Given the description of an element on the screen output the (x, y) to click on. 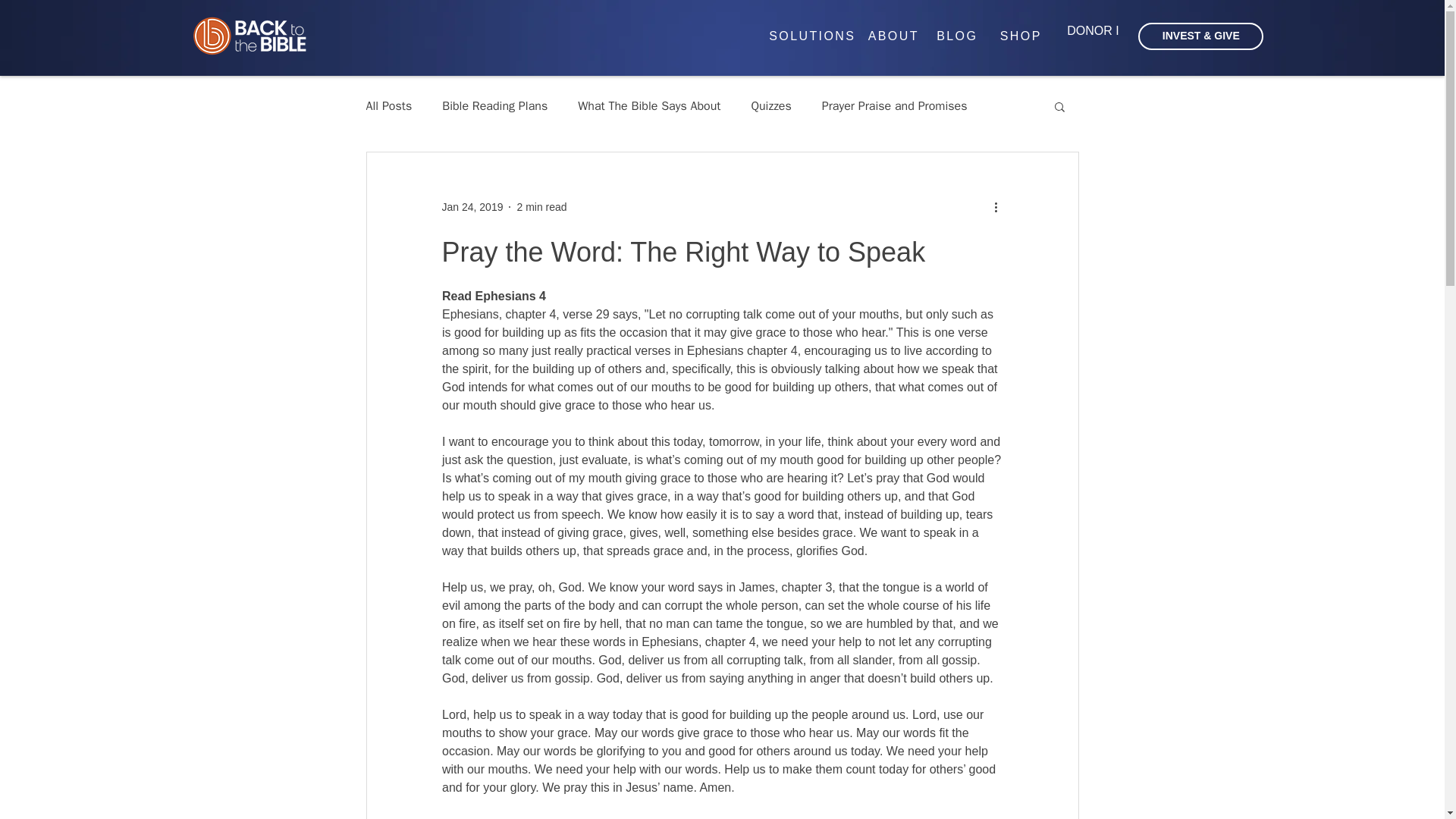
Bible Reading Plans (494, 106)
SOLUTIONS (811, 35)
Prayer Praise and Promises (895, 106)
SHOP (1020, 35)
ABOUT (892, 35)
2 min read (541, 205)
Quizzes (770, 106)
What The Bible Says About (649, 106)
Jan 24, 2019 (471, 205)
All Posts (388, 106)
